Given the description of an element on the screen output the (x, y) to click on. 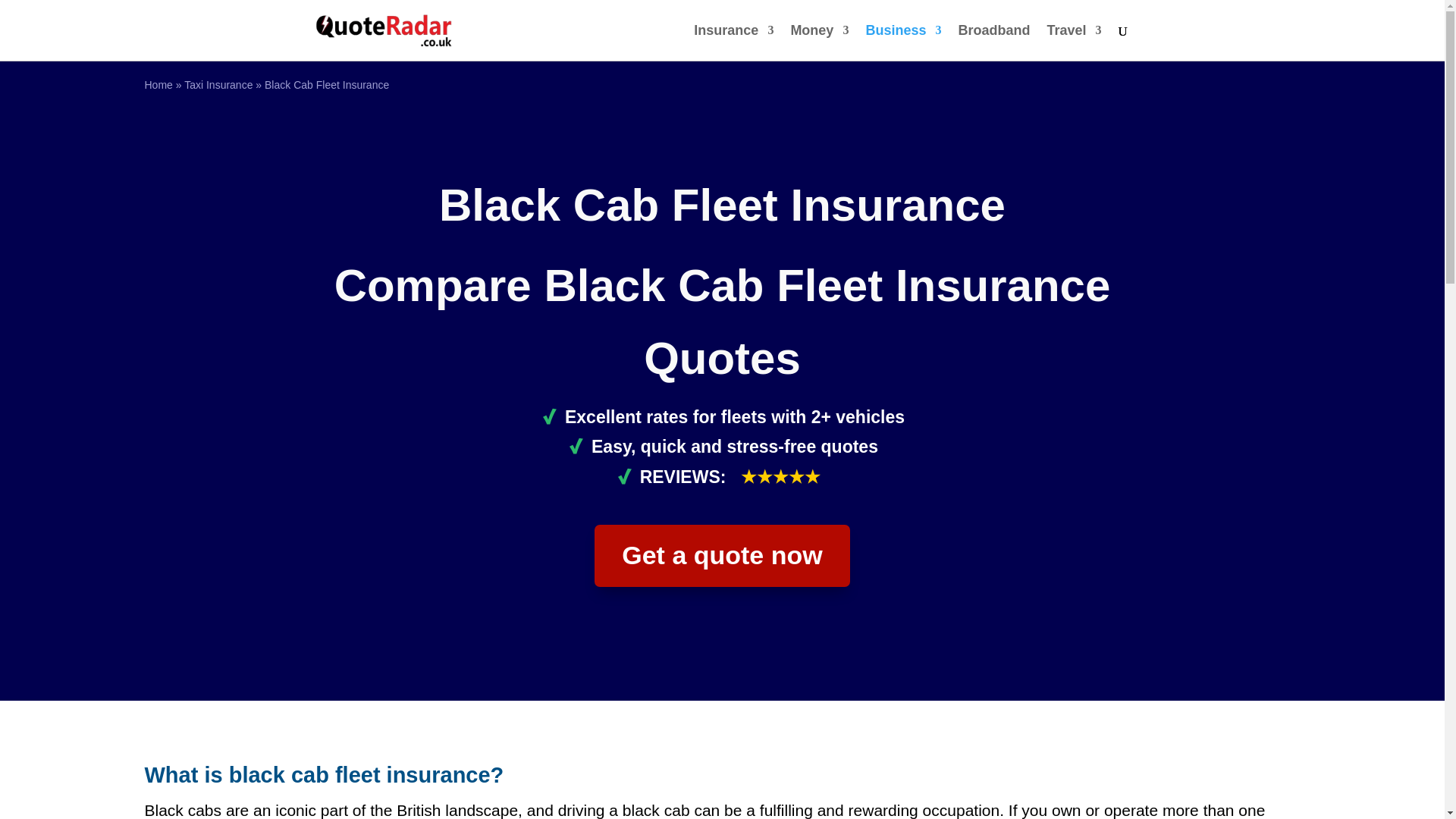
Insurance (733, 42)
